Given the description of an element on the screen output the (x, y) to click on. 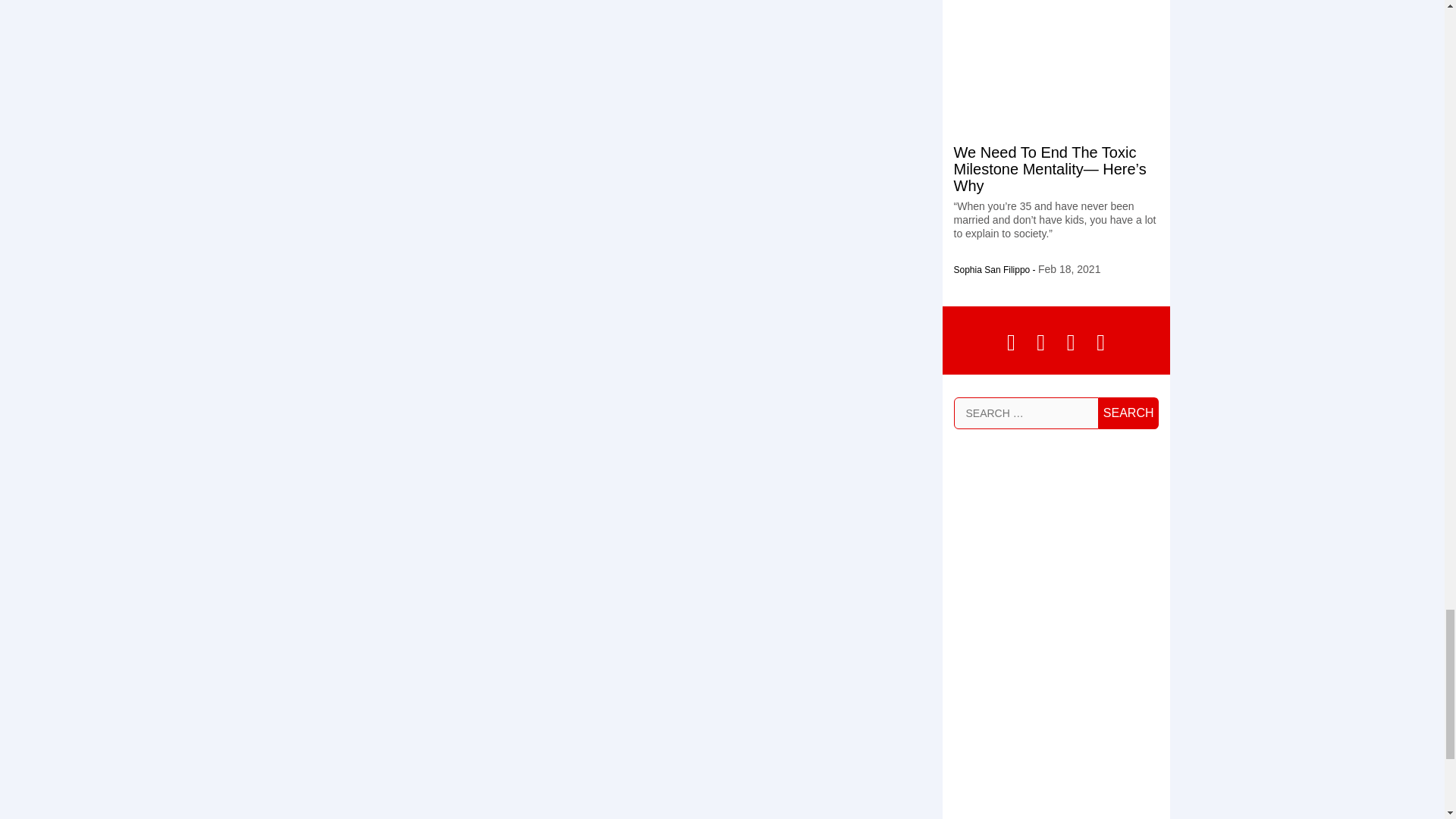
February 18, 2021 (1069, 268)
Search (1128, 413)
Search (1128, 413)
